Given the description of an element on the screen output the (x, y) to click on. 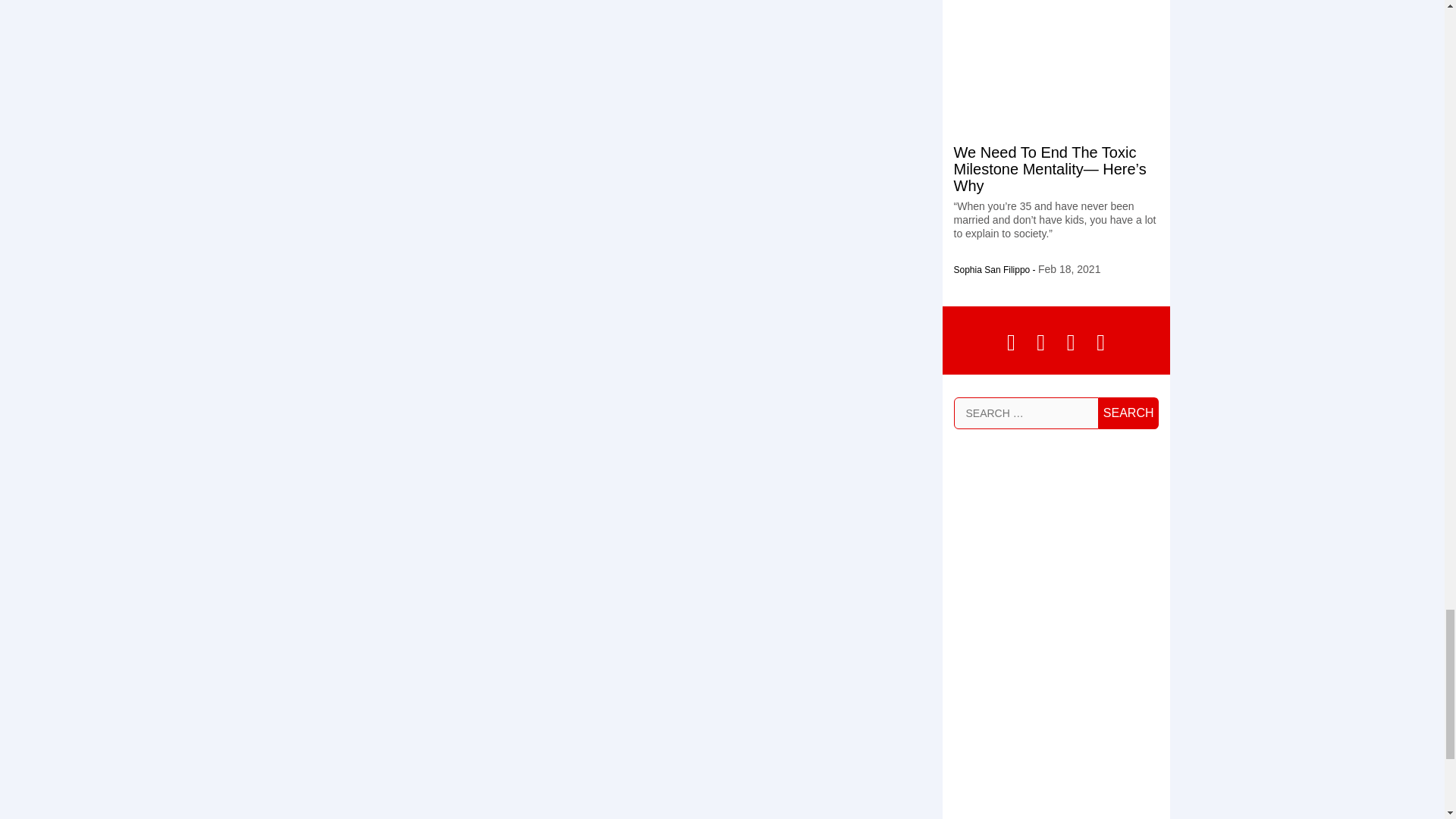
February 18, 2021 (1069, 268)
Search (1128, 413)
Search (1128, 413)
